Given the description of an element on the screen output the (x, y) to click on. 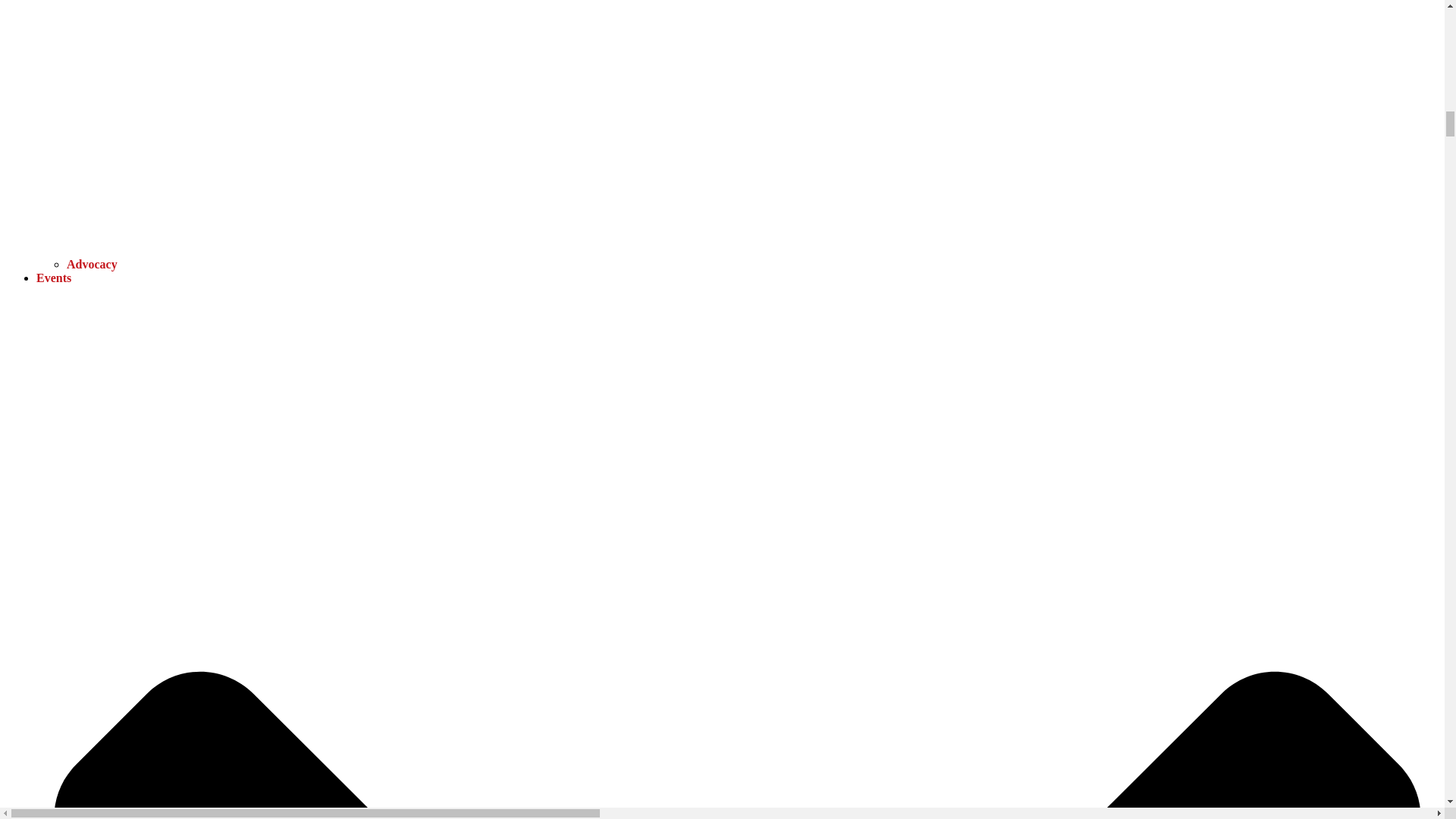
Advocacy (91, 264)
